Given the description of an element on the screen output the (x, y) to click on. 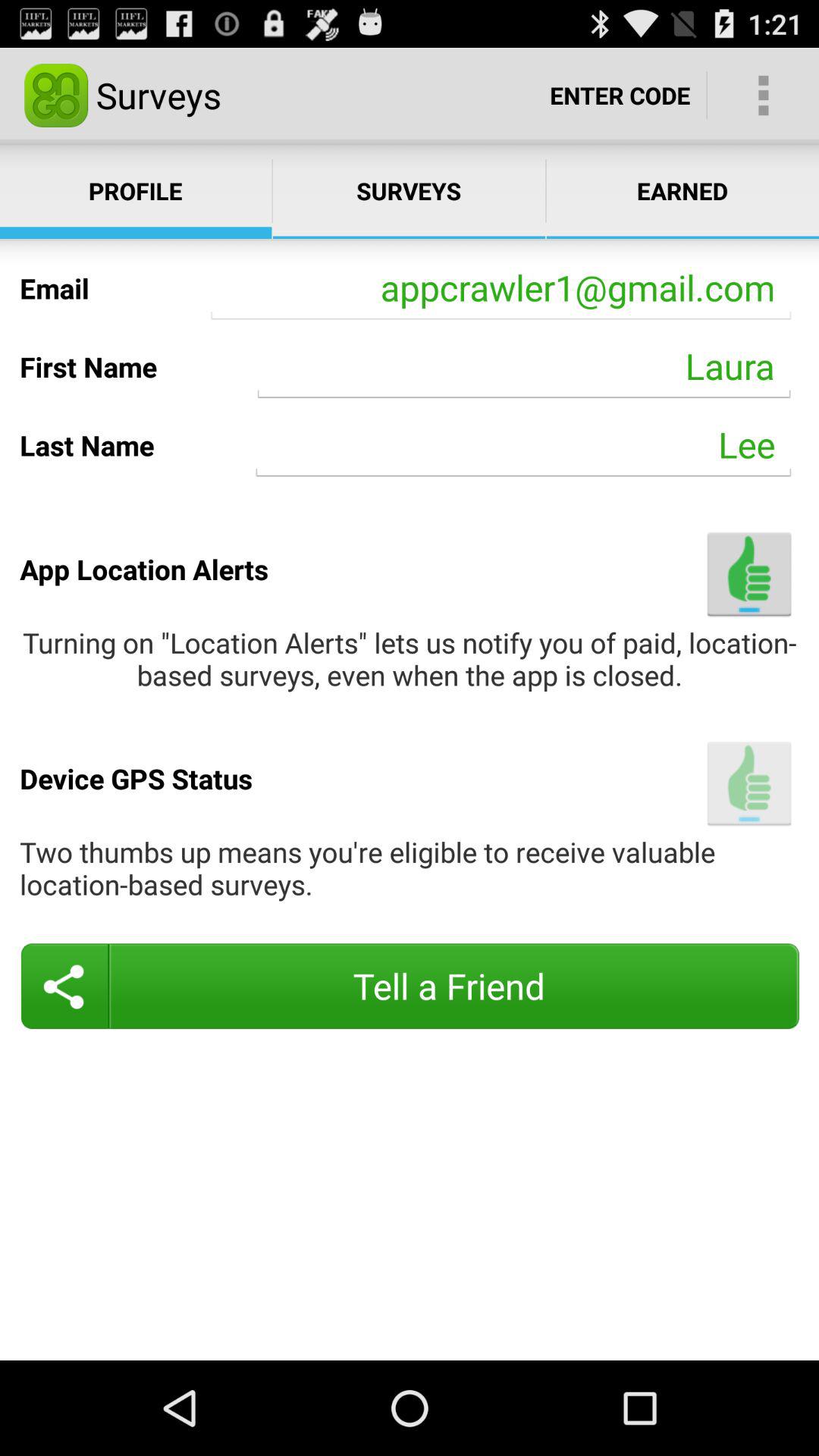
open item below turning on location (749, 783)
